Given the description of an element on the screen output the (x, y) to click on. 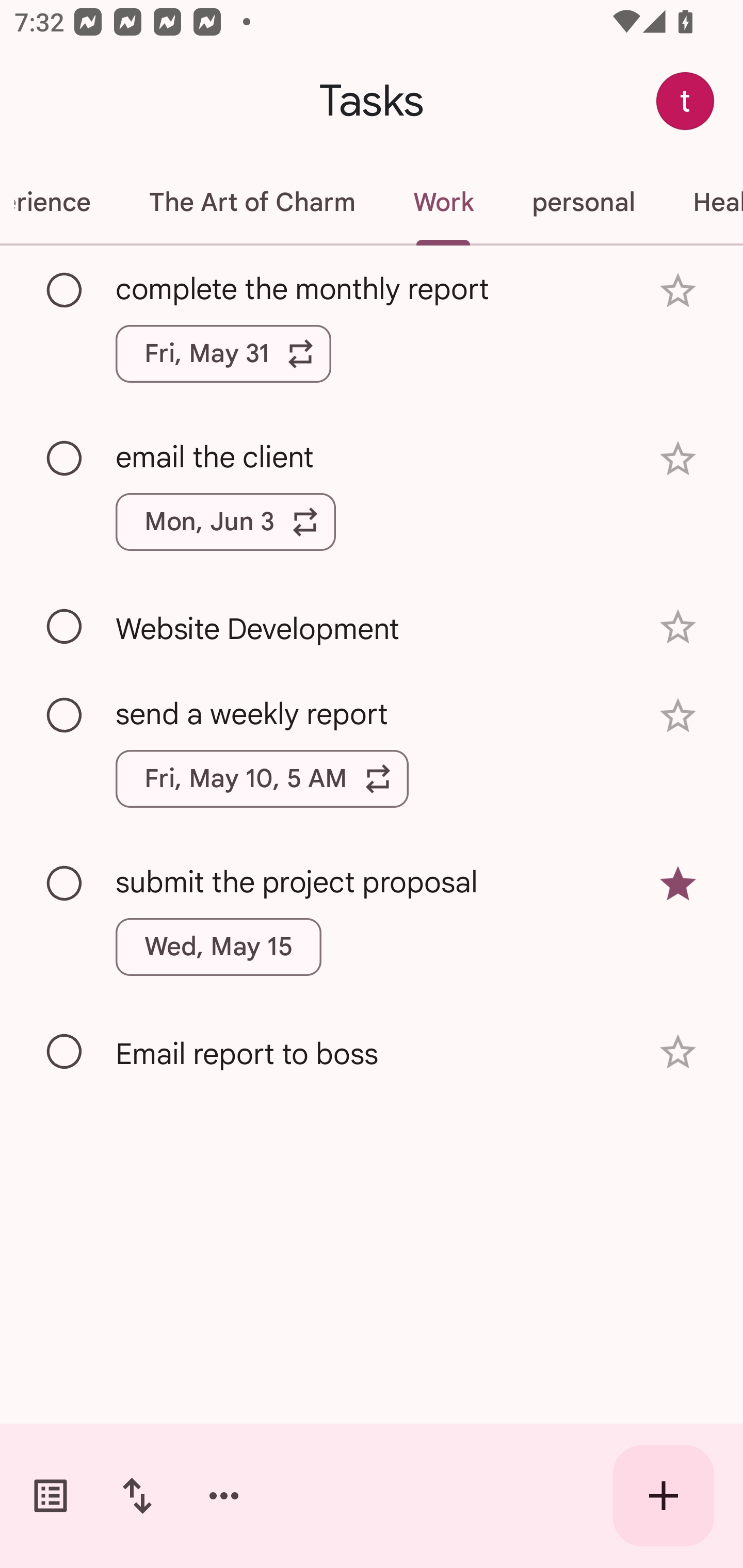
The Joe Rogan Experience (59, 202)
The Art of Charm (251, 202)
personal (582, 202)
Add star (677, 290)
Mark as complete (64, 290)
Fri, May 31 (223, 353)
Add star (677, 458)
Mark as complete (64, 459)
Mon, Jun 3 (225, 522)
Add star (677, 627)
Mark as complete (64, 627)
Add star (677, 715)
Mark as complete (64, 715)
Fri, May 10, 5 AM (261, 778)
Remove star (677, 883)
Mark as complete (64, 884)
Wed, May 15 (218, 946)
Add star (677, 1052)
Mark as complete (64, 1052)
Switch task lists (50, 1495)
Create new task (663, 1495)
Change sort order (136, 1495)
More options (223, 1495)
